Given the description of an element on the screen output the (x, y) to click on. 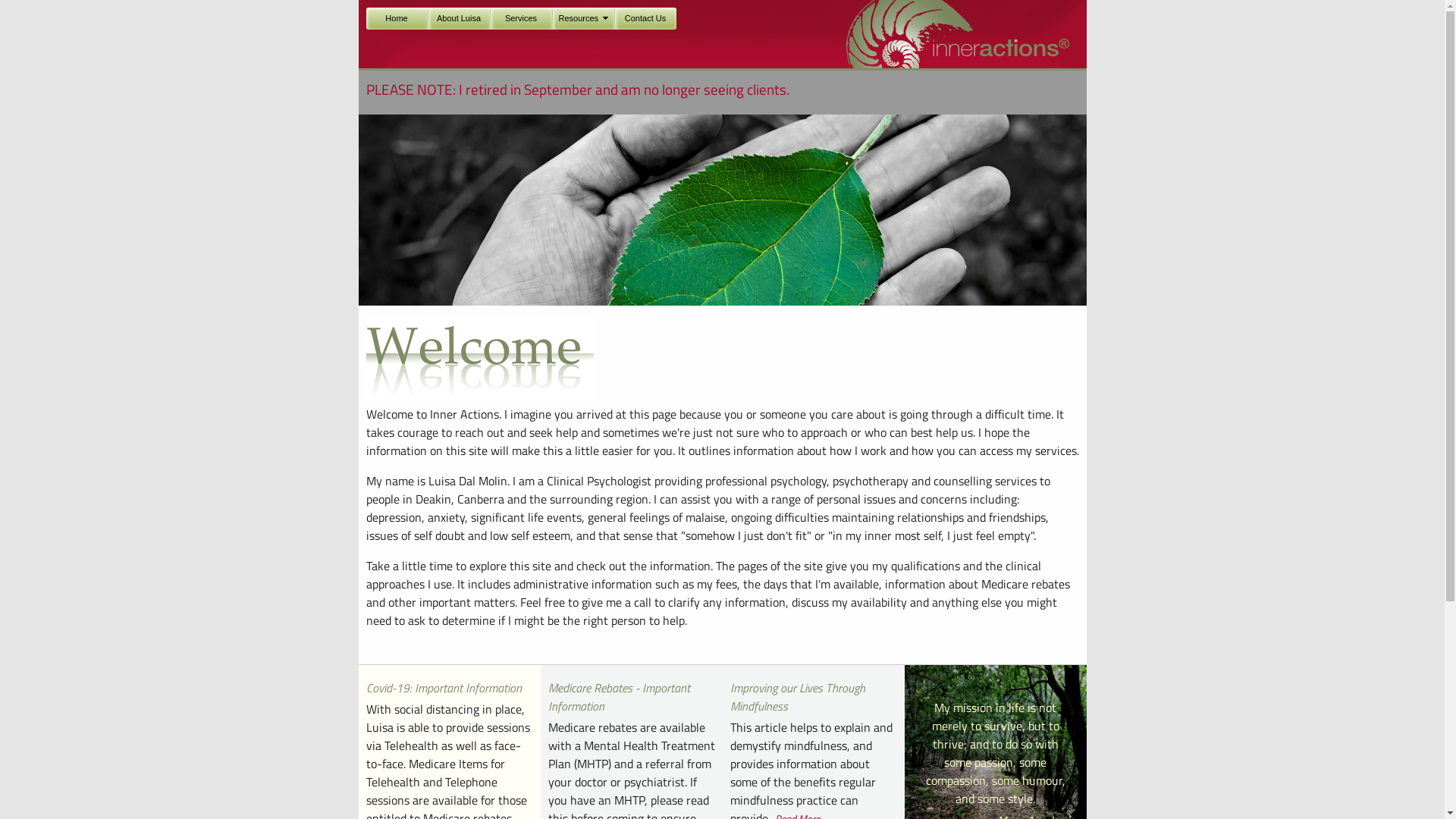
Covid-19: Important Information Element type: text (442, 687)
Resources Element type: text (582, 18)
Improving our Lives Through Mindfulness Element type: text (796, 696)
Contact Us Element type: text (644, 18)
Services Element type: text (520, 18)
Medicare Rebates - Important Information Element type: text (618, 696)
About Luisa Element type: text (458, 18)
Home Element type: text (395, 18)
